Given the description of an element on the screen output the (x, y) to click on. 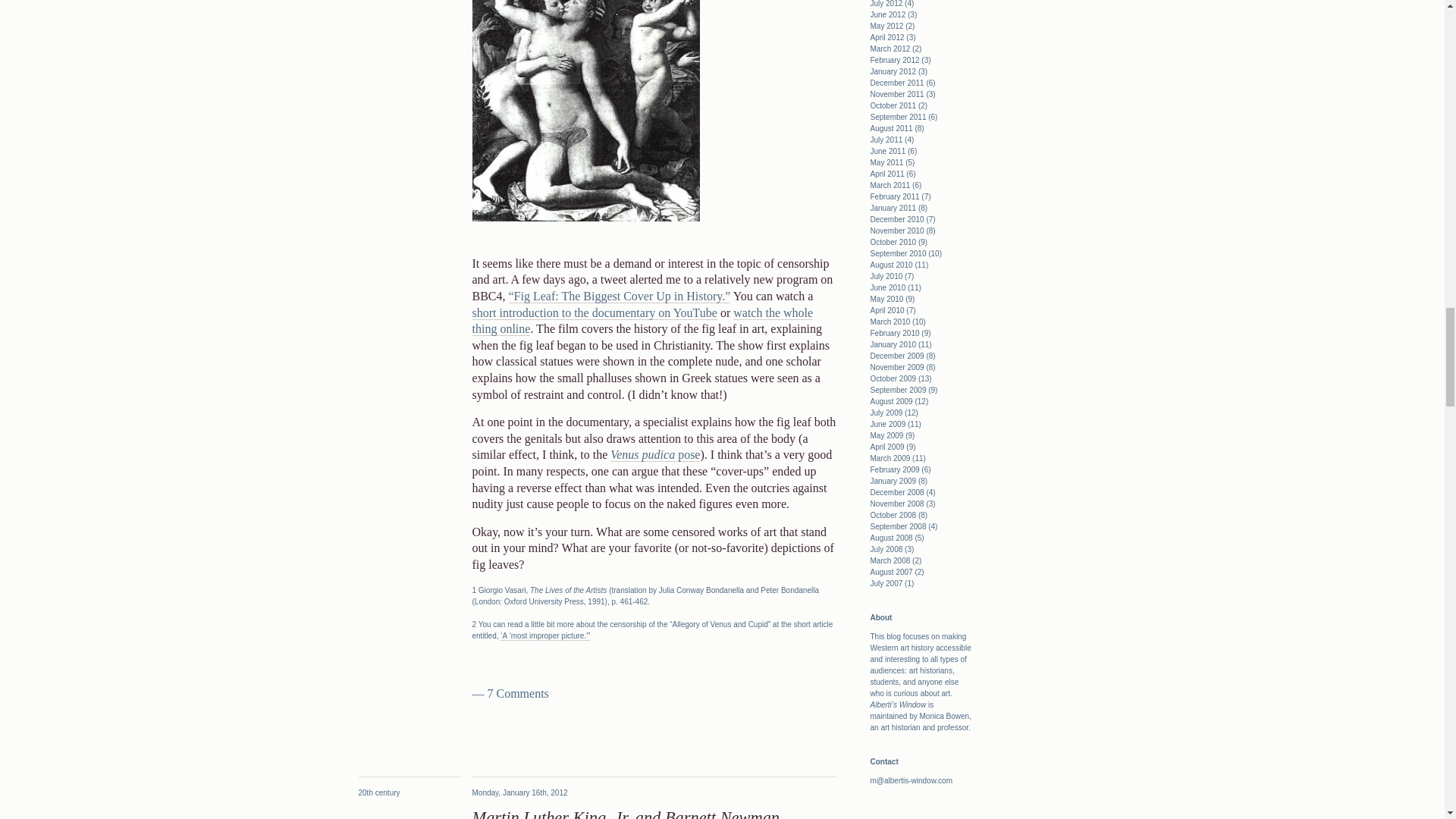
short introduction to the documentary on YouTube (593, 313)
20th century (378, 792)
Venus pudica pose (655, 454)
